Given the description of an element on the screen output the (x, y) to click on. 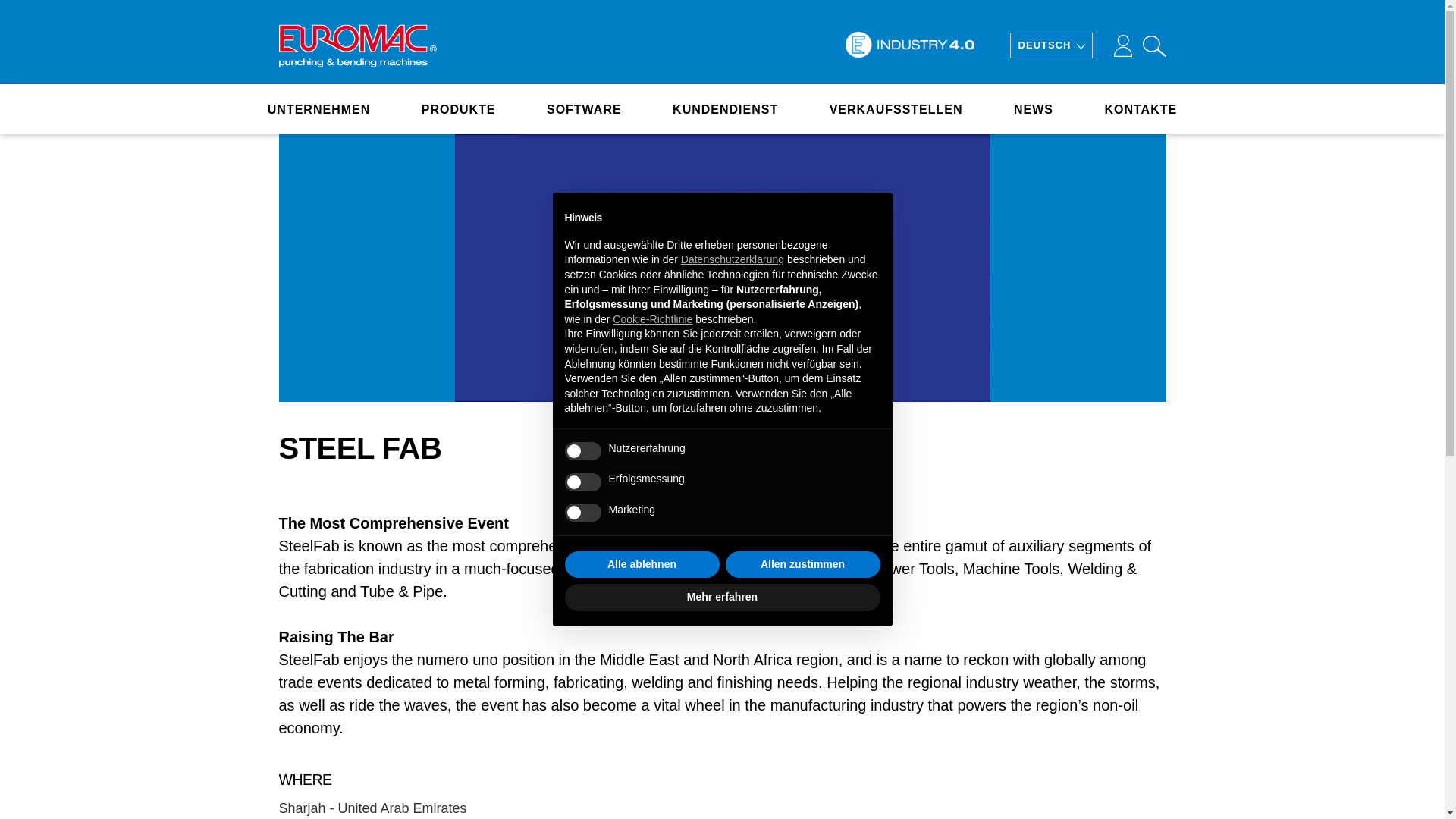
false (581, 451)
DEUTSCH (1051, 45)
false (581, 482)
false (581, 512)
